Given the description of an element on the screen output the (x, y) to click on. 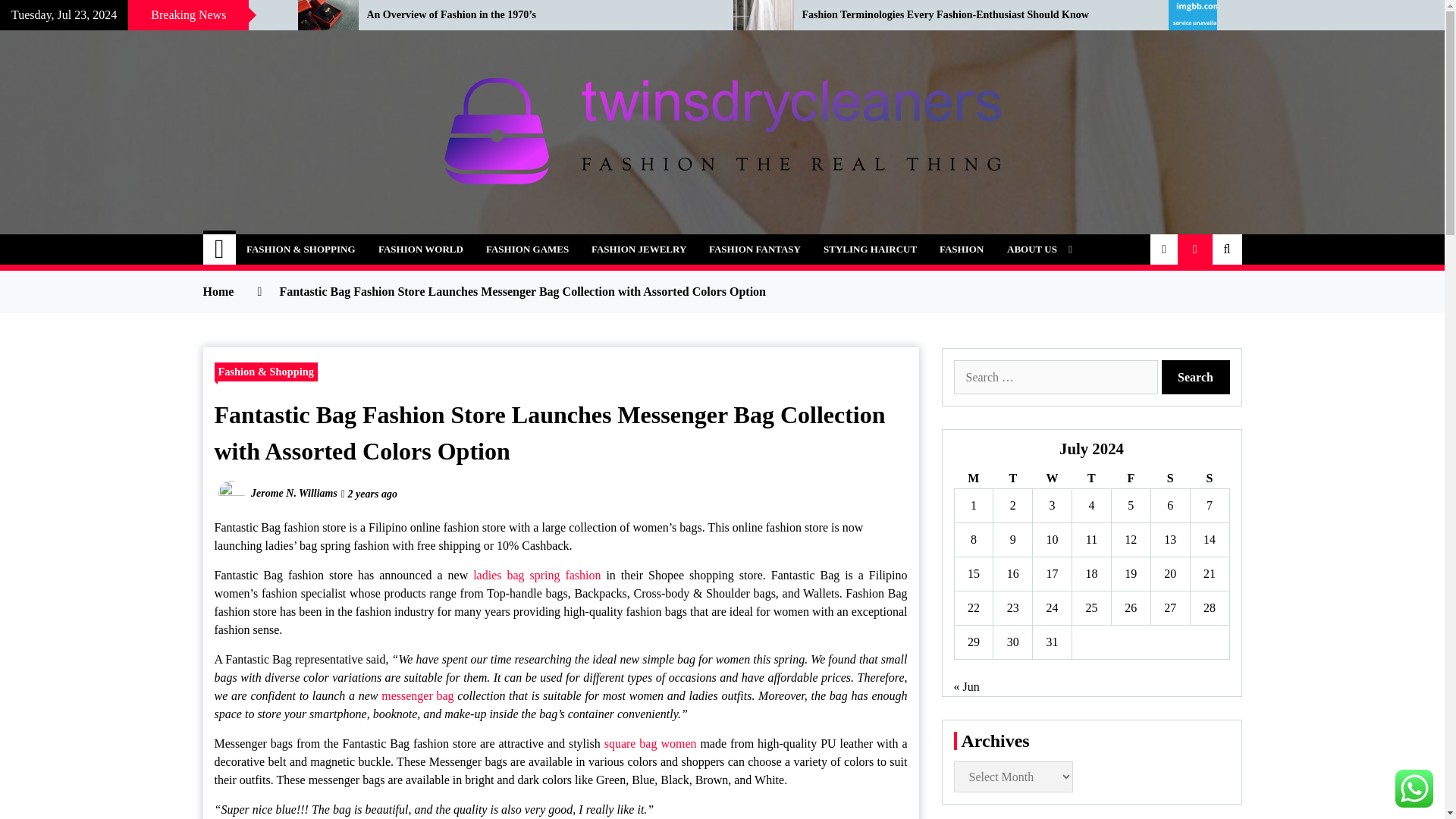
Home (219, 249)
Tuesday (1012, 478)
Thursday (1091, 478)
Saturday (1169, 478)
Search (1195, 376)
Wednesday (1051, 478)
Search (1195, 376)
Sunday (1208, 478)
Fashion Terminologies Every Fashion-Enthusiast Should Know (973, 15)
Monday (972, 478)
Friday (1130, 478)
